Given the description of an element on the screen output the (x, y) to click on. 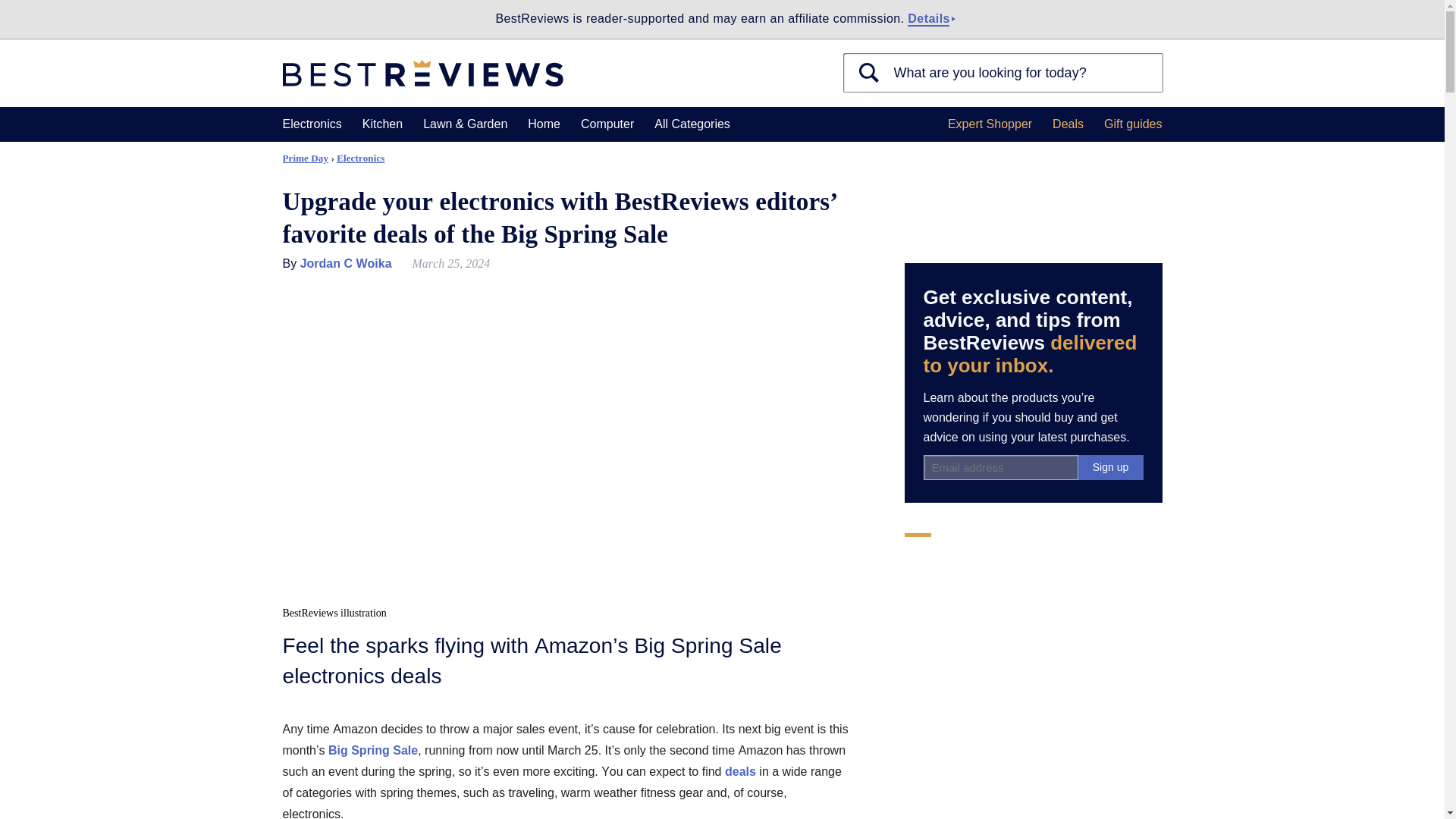
Expert Shopper (989, 124)
deals (740, 771)
Electronics (311, 124)
Details (928, 19)
Gift guides (1132, 124)
Home (543, 124)
Subscribe email (1000, 467)
BestReviews Branding Logo (422, 73)
All Categories (691, 124)
Kitchen (382, 124)
